Given the description of an element on the screen output the (x, y) to click on. 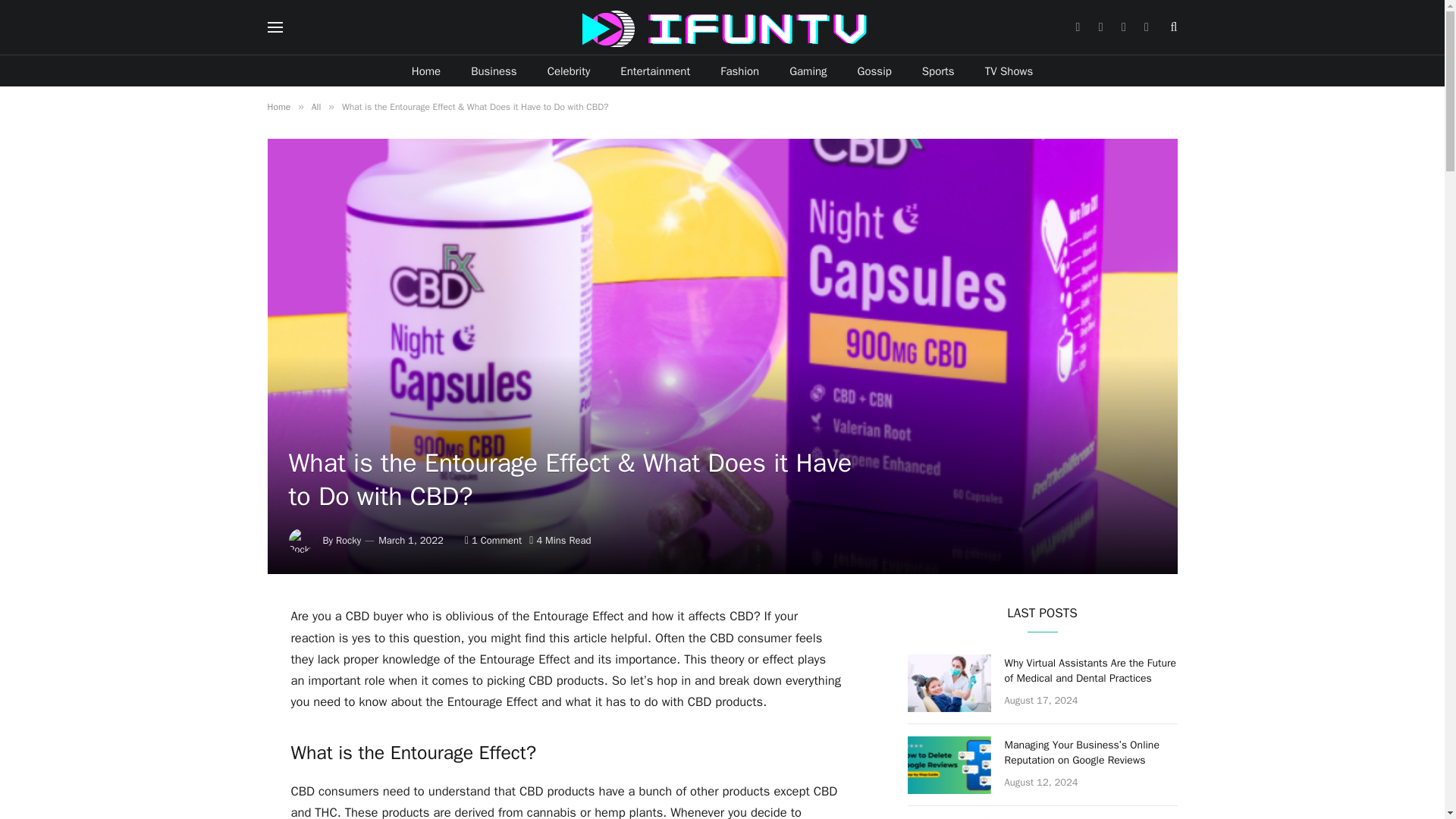
Home (425, 70)
1 Comment (492, 540)
Rocky (348, 540)
Sports (938, 70)
Gossip (875, 70)
Fashion (739, 70)
Home (277, 106)
Celebrity (568, 70)
Business (493, 70)
Entertainment (654, 70)
